Given the description of an element on the screen output the (x, y) to click on. 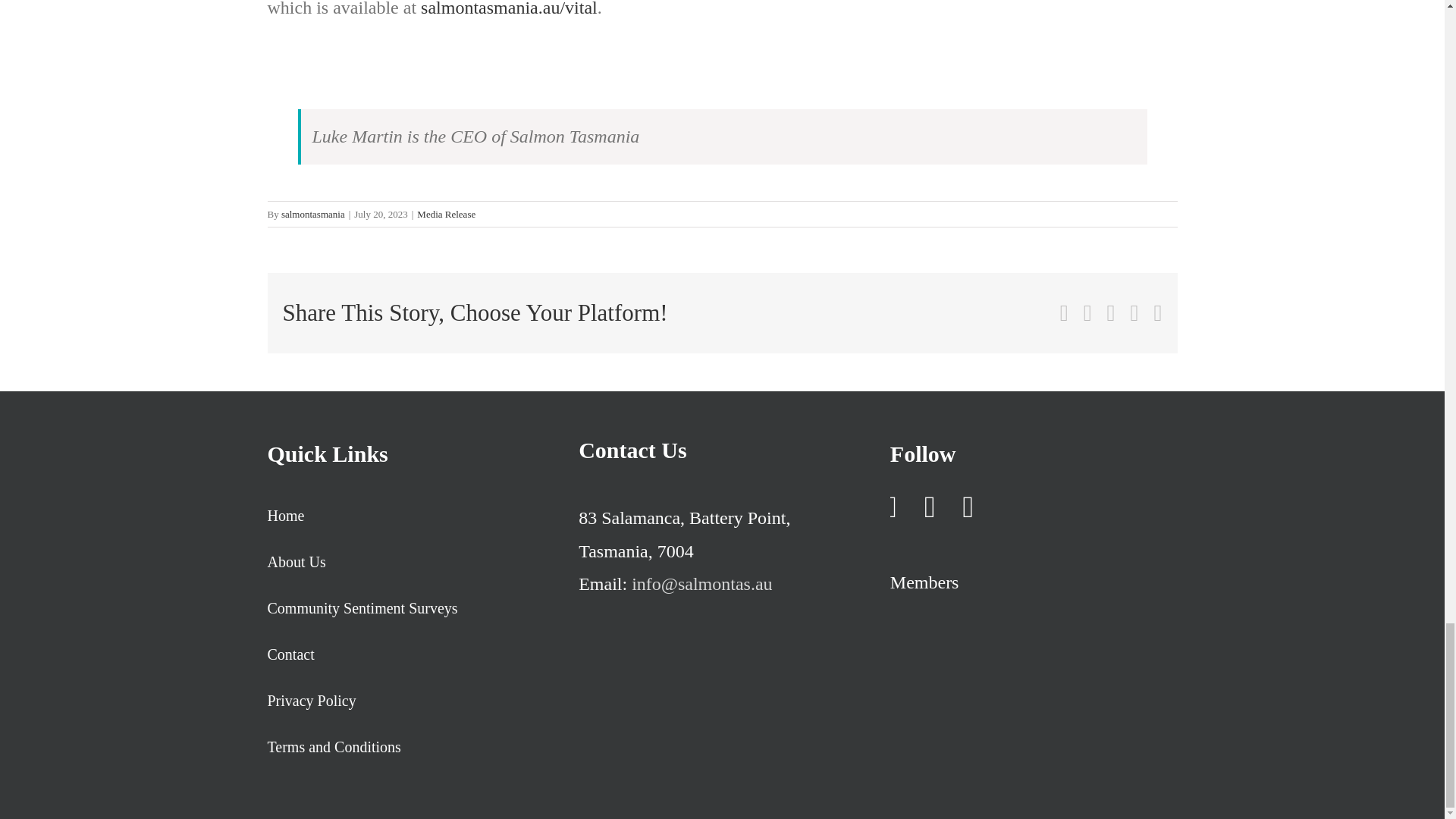
About Us (409, 561)
Privacy Policy (409, 700)
Media Release (446, 214)
Home (409, 515)
Contact (409, 654)
Posts by salmontasmania (313, 214)
Terms and Conditions (409, 746)
Community Sentiment Surveys (409, 608)
salmontasmania (313, 214)
